Given the description of an element on the screen output the (x, y) to click on. 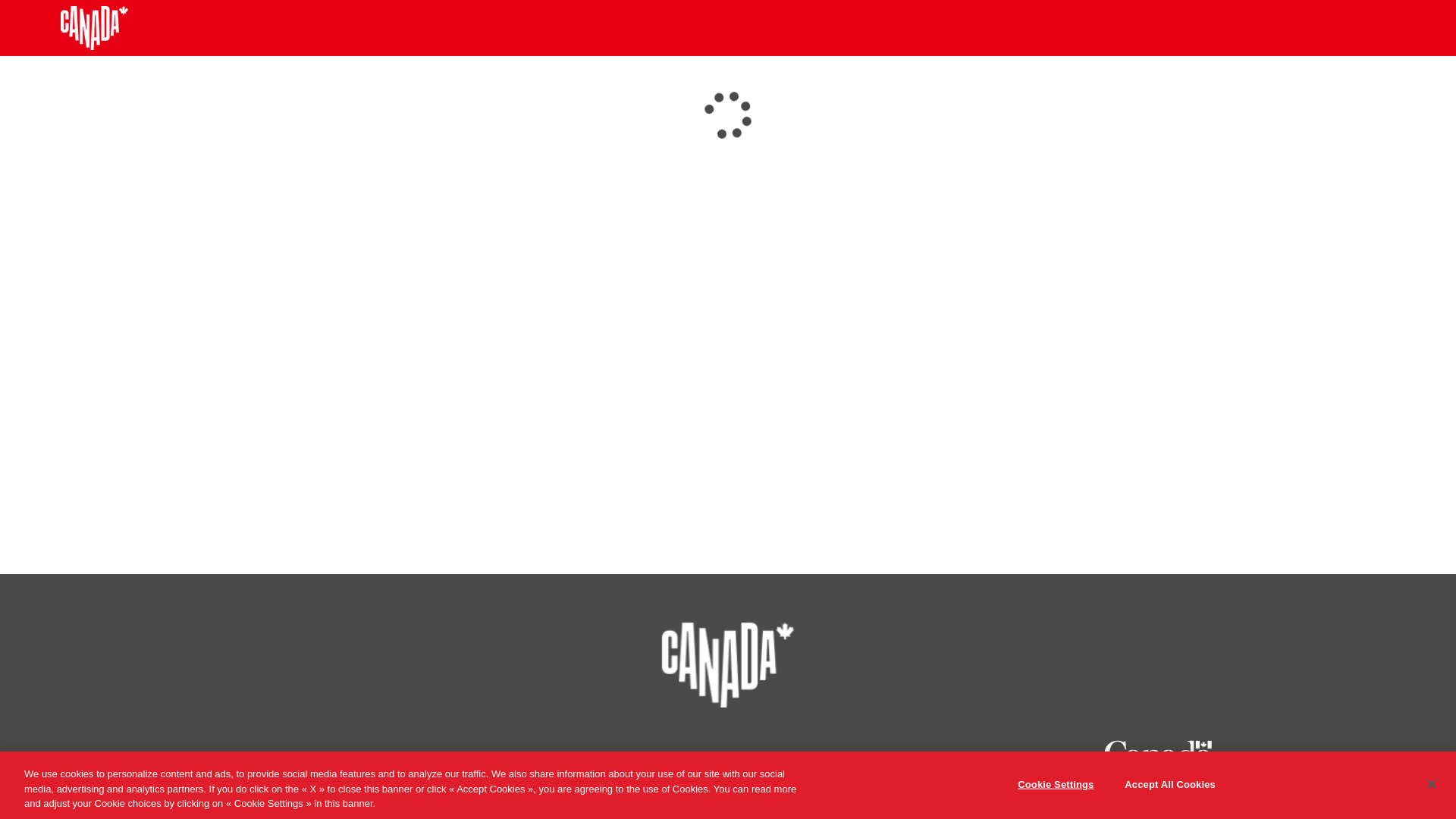
Cookie Settings (1056, 784)
Accept All Cookies (1170, 784)
